Given the description of an element on the screen output the (x, y) to click on. 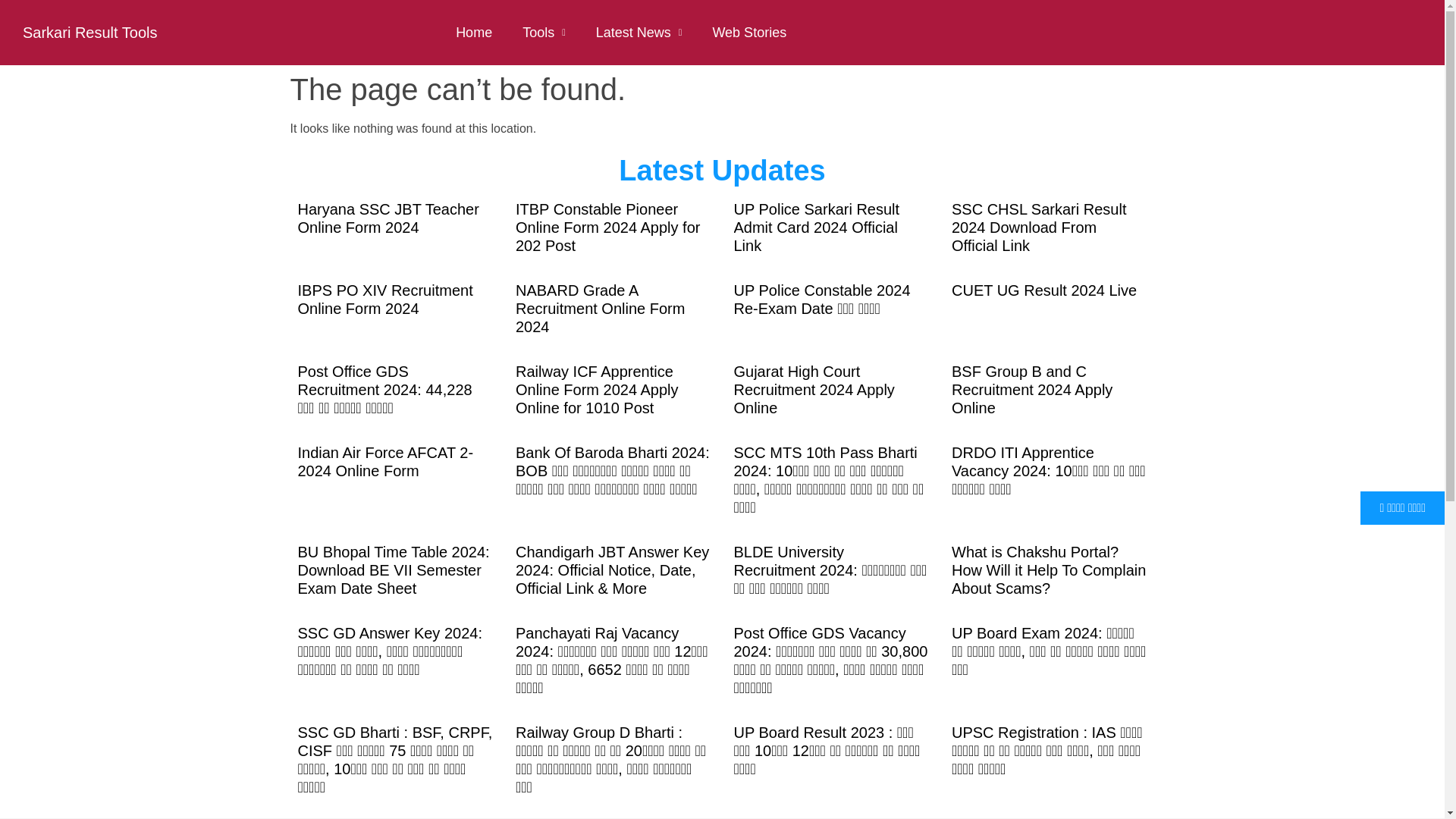
Web Stories (749, 32)
Latest News (638, 32)
Tools (543, 32)
Home (473, 32)
Advertisement (729, 779)
Sarkari Result Tools (90, 32)
